Given the description of an element on the screen output the (x, y) to click on. 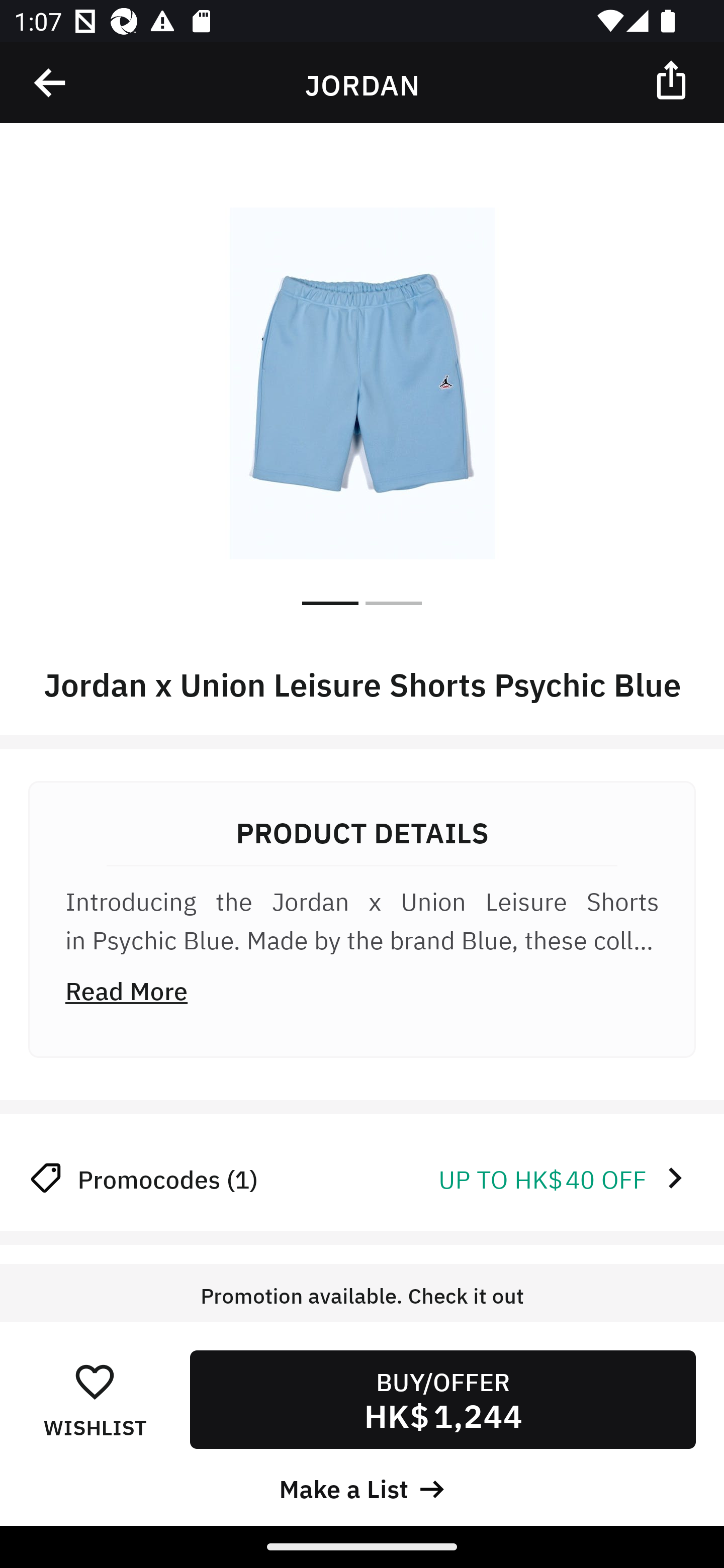
 (50, 83)
 (672, 79)
Promocodes (1) UP TO HK$ 40 OFF  (361, 1178)
BUY/OFFER HK$ 1,244 (442, 1399)
󰋕 (94, 1380)
Make a List (361, 1486)
